Given the description of an element on the screen output the (x, y) to click on. 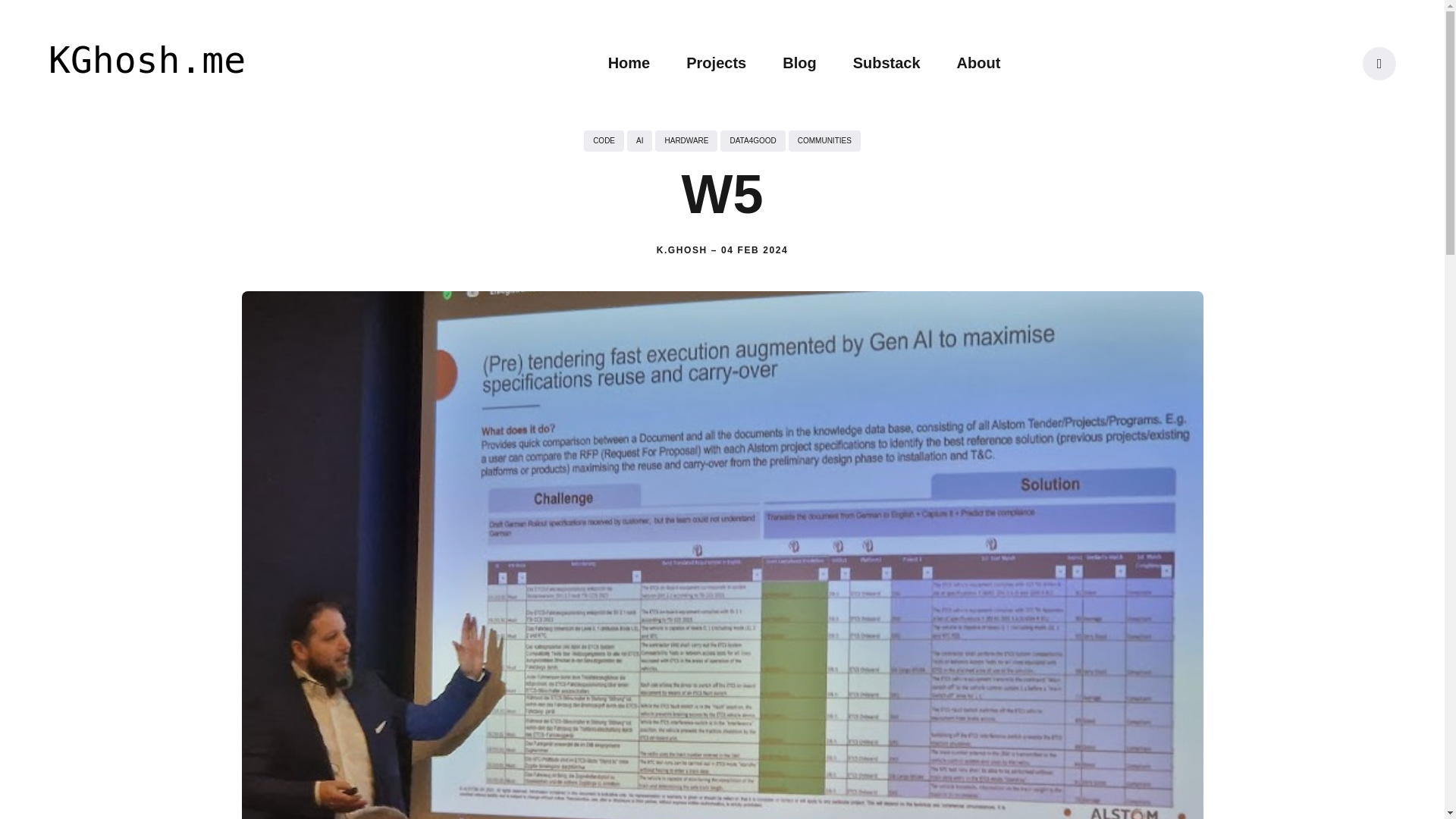
About (978, 62)
CODE (603, 140)
DATA4GOOD (752, 140)
Blog (799, 62)
COMMUNITIES (824, 140)
Home (629, 62)
Substack (886, 62)
K.GHOSH (681, 249)
Projects (715, 62)
HARDWARE (686, 140)
